Given the description of an element on the screen output the (x, y) to click on. 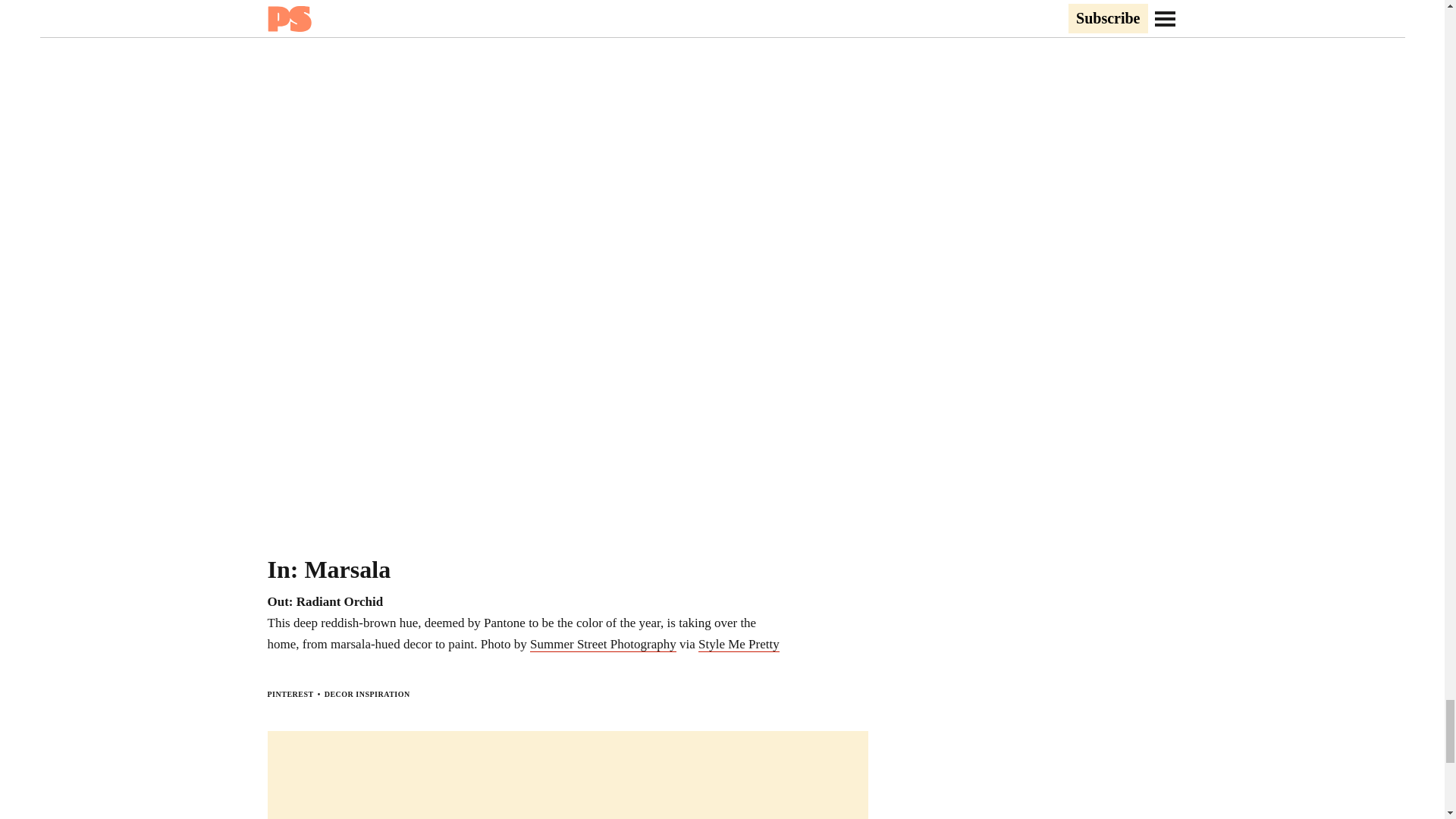
Style Me Pretty (738, 644)
Summer Street Photography (603, 644)
DECOR INSPIRATION (367, 694)
PINTEREST (289, 694)
